Given the description of an element on the screen output the (x, y) to click on. 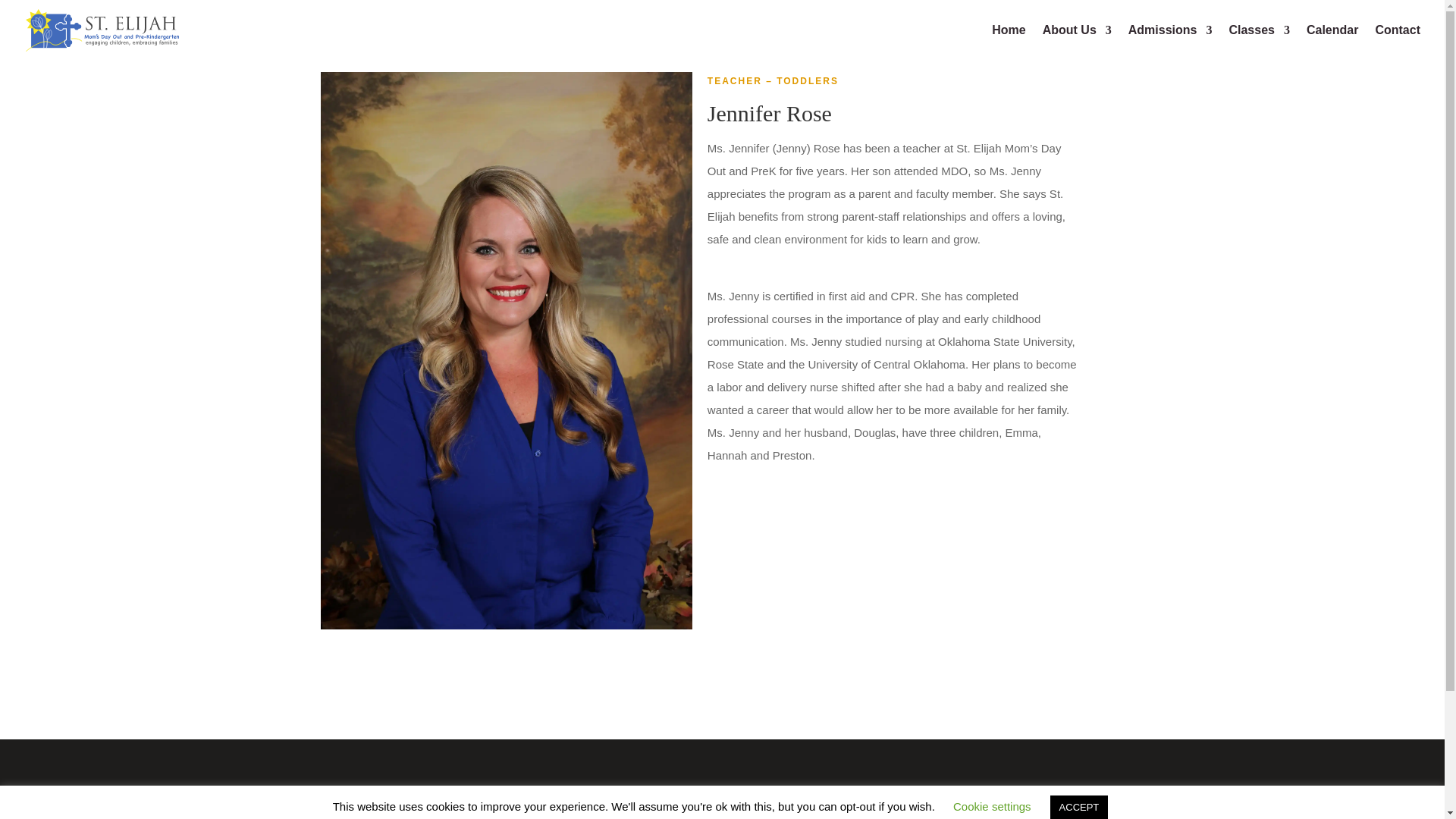
Calendar (1332, 42)
Home (1008, 42)
Admissions (1170, 42)
Contact (1397, 42)
Classes (1259, 42)
About Us (1077, 42)
